Given the description of an element on the screen output the (x, y) to click on. 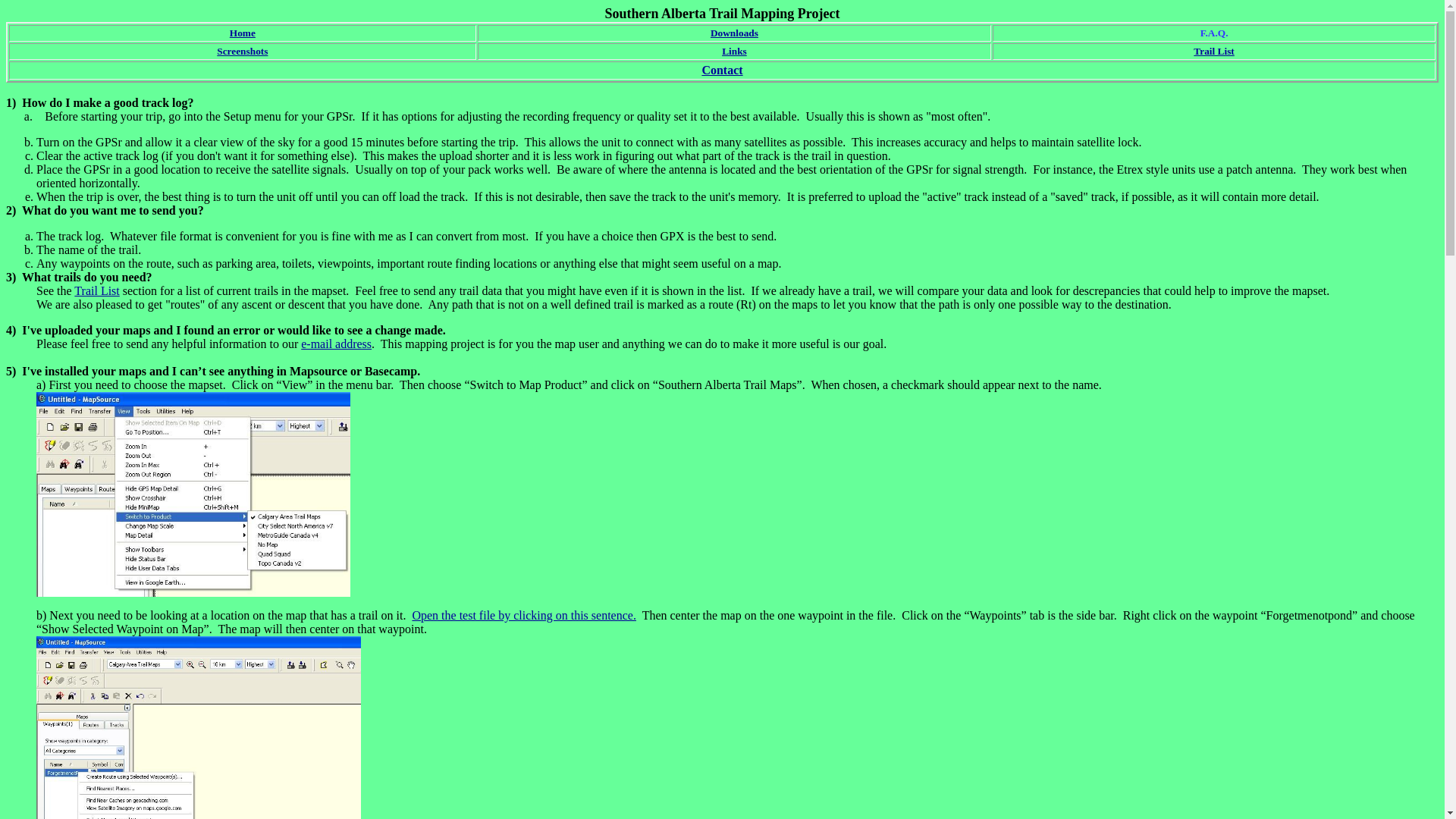
e-mail address Element type: text (336, 343)
Trail List Element type: text (96, 290)
Trail List Element type: text (1213, 50)
Contact Element type: text (721, 69)
Downloads Element type: text (734, 32)
Links Element type: text (733, 50)
Home Element type: text (242, 32)
Screenshots Element type: text (241, 50)
Open the test file by clicking on this sentence. Element type: text (523, 614)
